Given the description of an element on the screen output the (x, y) to click on. 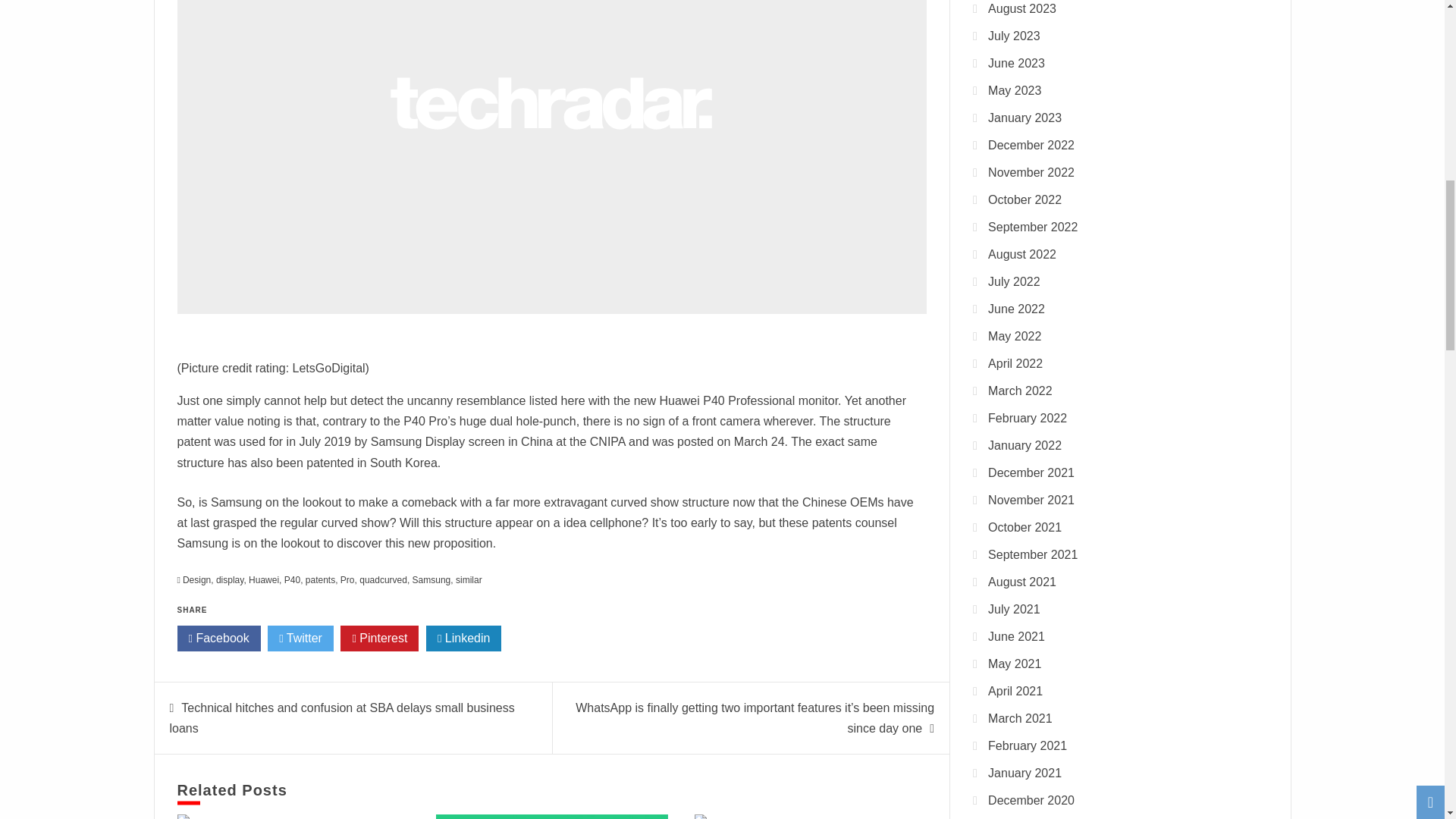
patents (319, 579)
Twitter (300, 638)
Design (197, 579)
Huawei (263, 579)
Pinterest (379, 638)
P40 (291, 579)
similar (468, 579)
Samsung (431, 579)
